Given the description of an element on the screen output the (x, y) to click on. 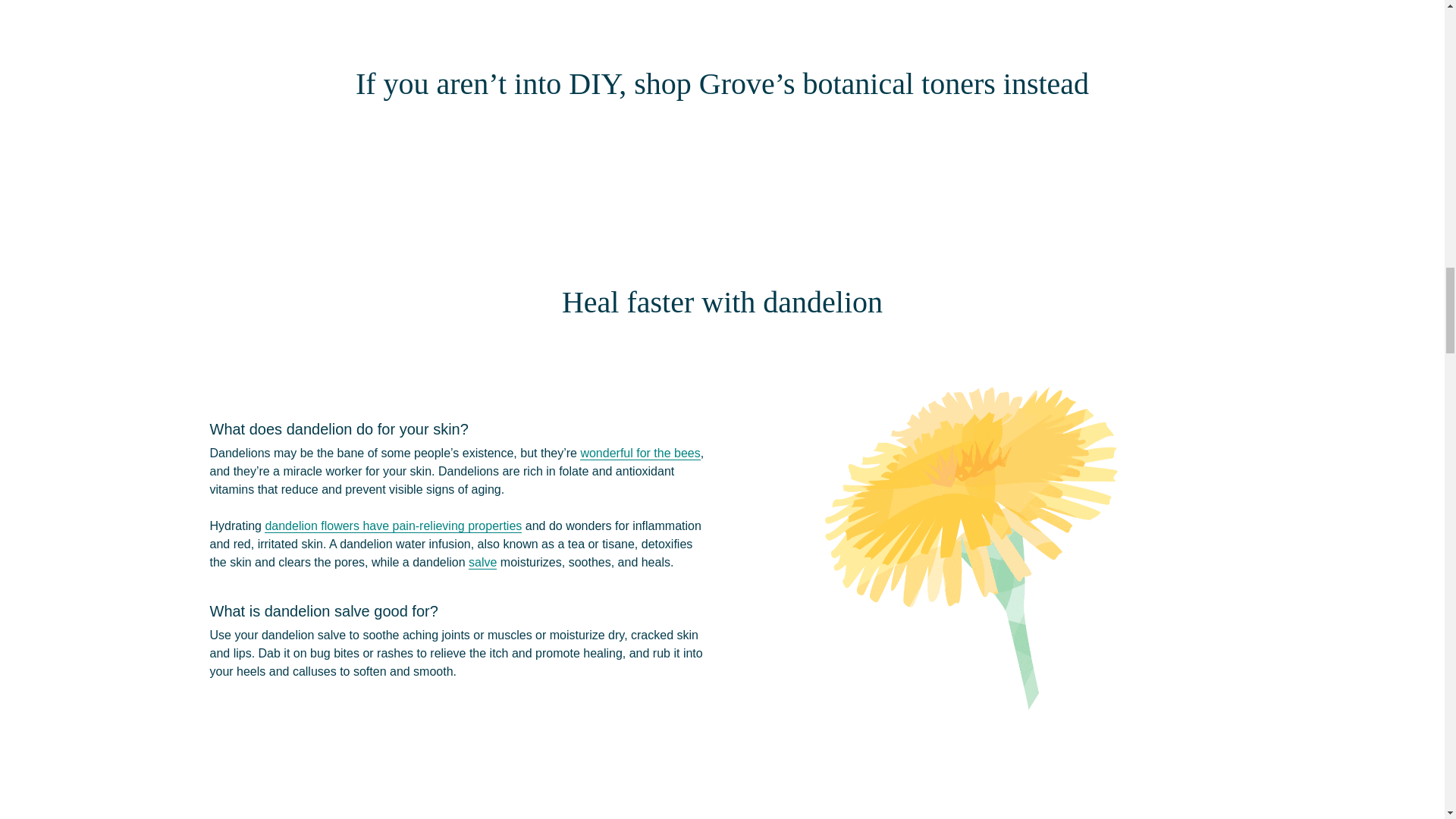
wonderful for the bees (639, 453)
dandelion flowers have pain-relieving properties (392, 526)
salve (482, 562)
